Given the description of an element on the screen output the (x, y) to click on. 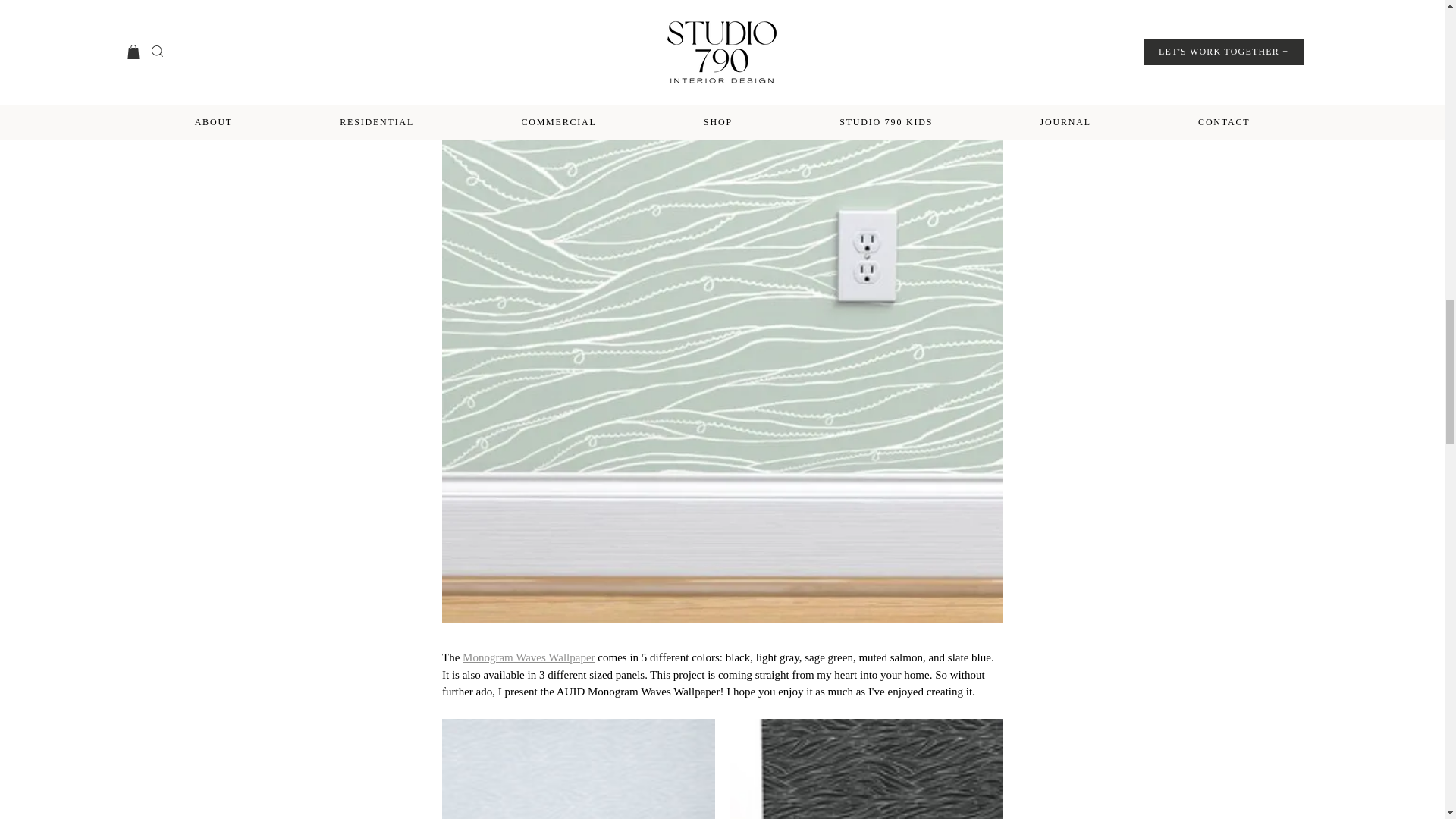
Monogram Waves Wallpaper (529, 657)
